Given the description of an element on the screen output the (x, y) to click on. 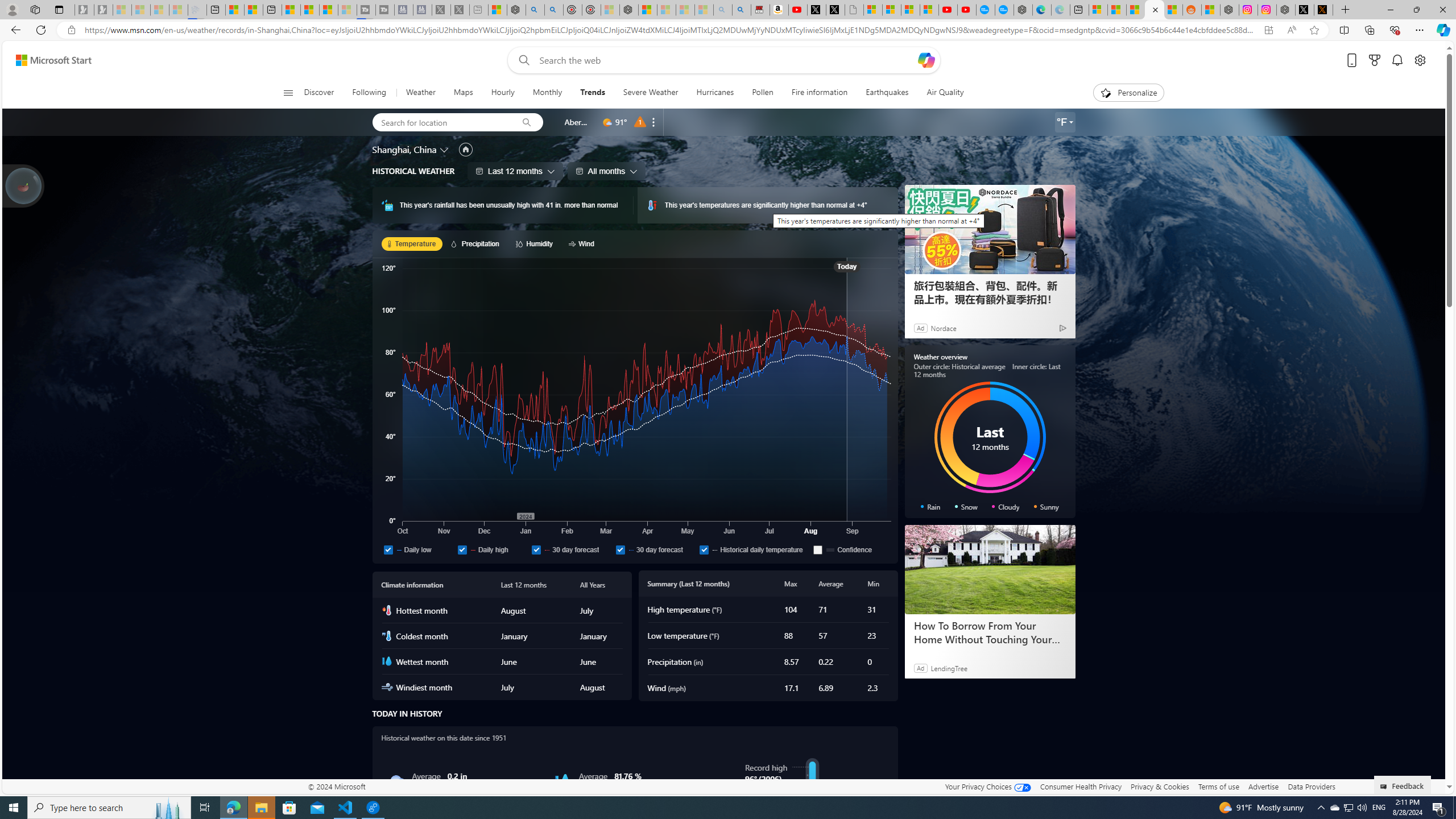
Privacy & Cookies (1160, 785)
poe ++ standard - Search (553, 9)
Wind (582, 243)
Browser essentials (1394, 29)
Hourly (502, 92)
Consumer Health Privacy (1080, 786)
Following (370, 92)
Maps (462, 92)
Discover (323, 92)
Humidity (562, 781)
Nordace - Nordace has arrived Hong Kong (1022, 9)
View site information (70, 29)
